Given the description of an element on the screen output the (x, y) to click on. 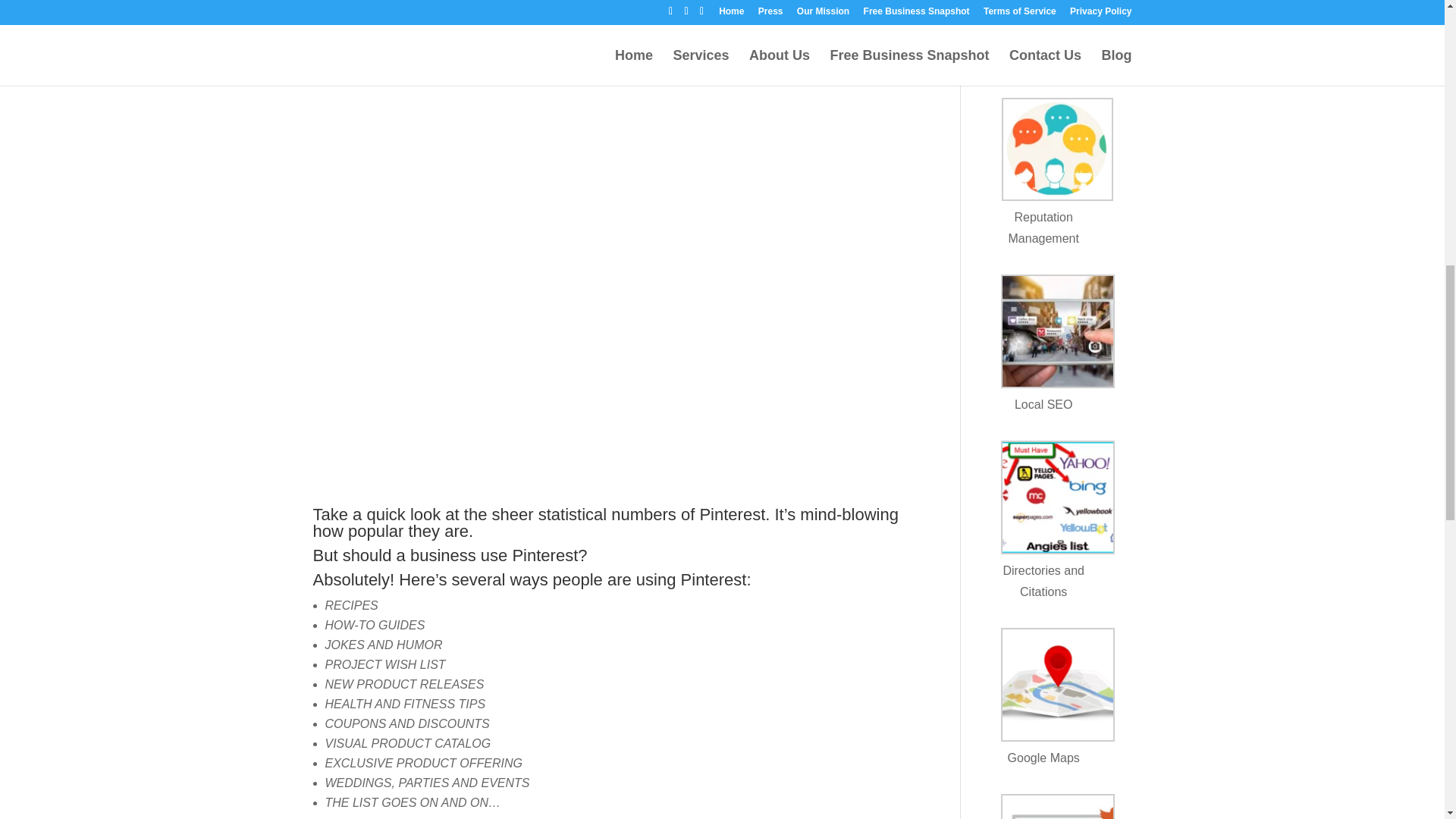
statistical numbers of Pinterest (651, 514)
